Given the description of an element on the screen output the (x, y) to click on. 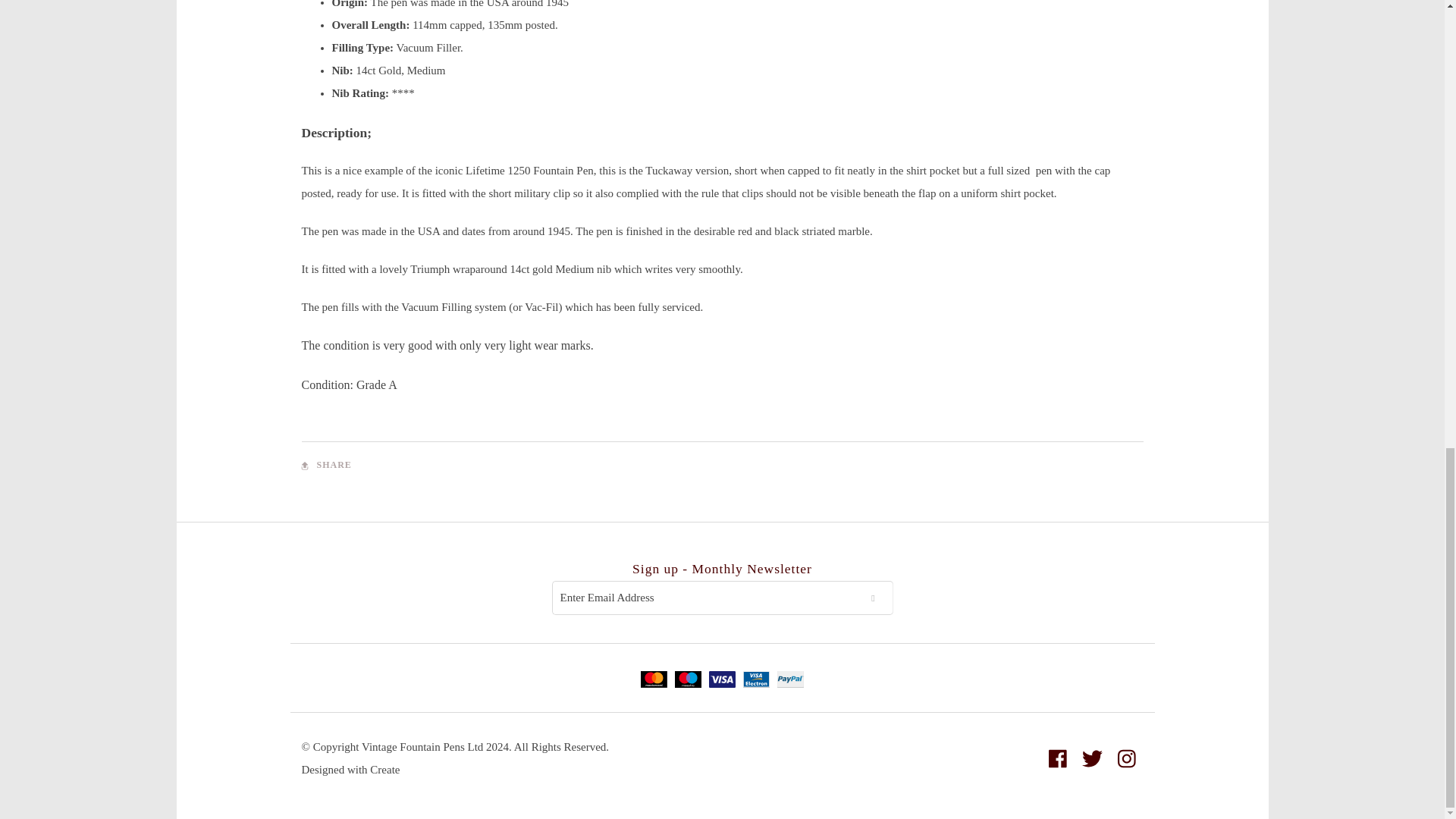
twitter (1091, 758)
twitter (1091, 758)
